Given the description of an element on the screen output the (x, y) to click on. 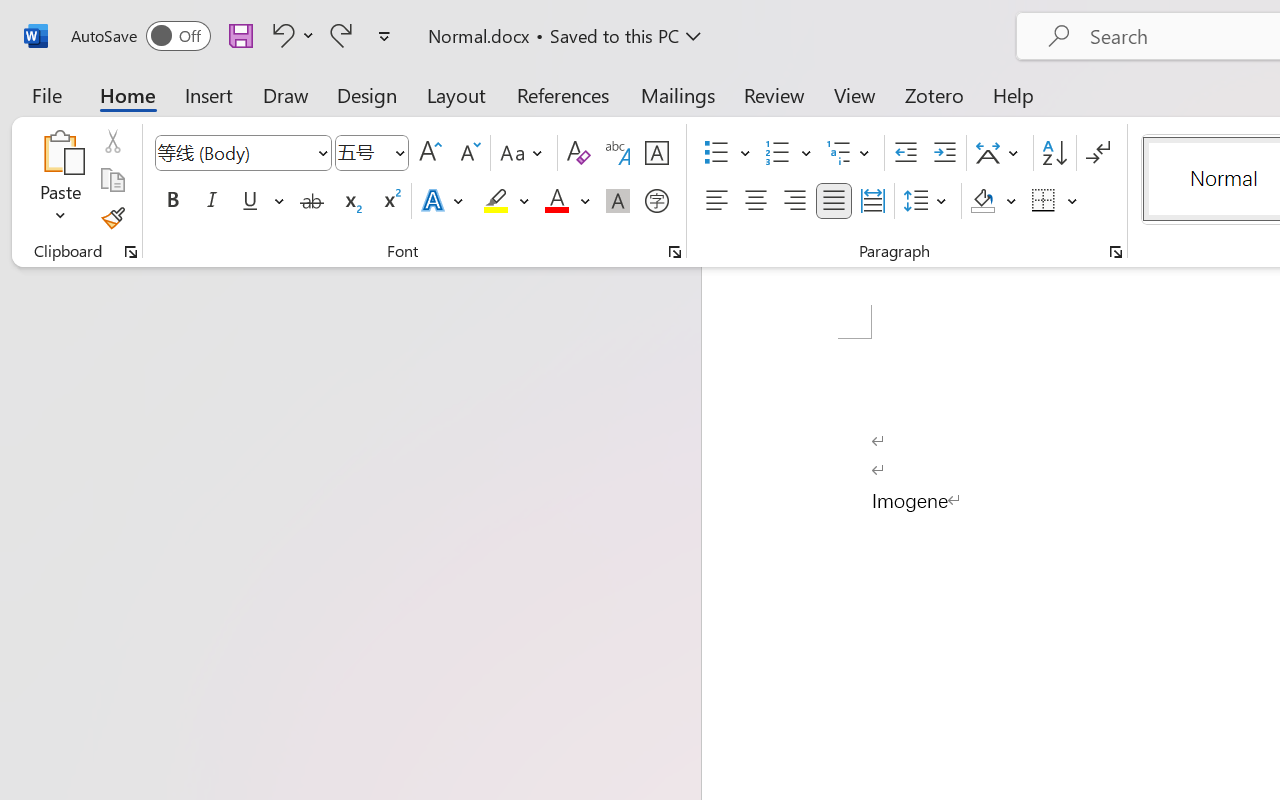
Superscript (390, 201)
